Given the description of an element on the screen output the (x, y) to click on. 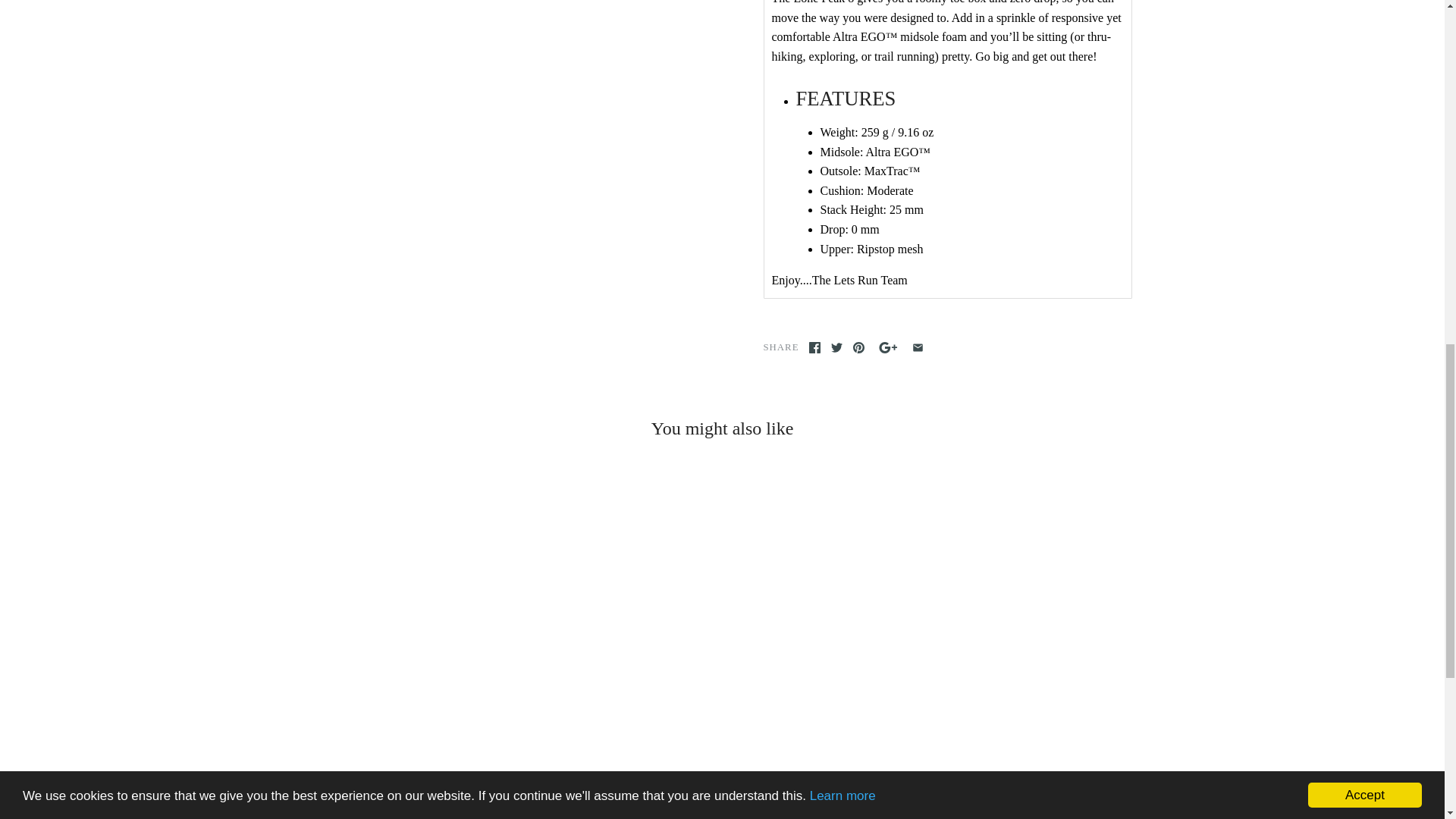
Email (917, 347)
GooglePlus (888, 347)
Facebook (815, 347)
Pinterest (858, 347)
Twitter (837, 347)
